Given the description of an element on the screen output the (x, y) to click on. 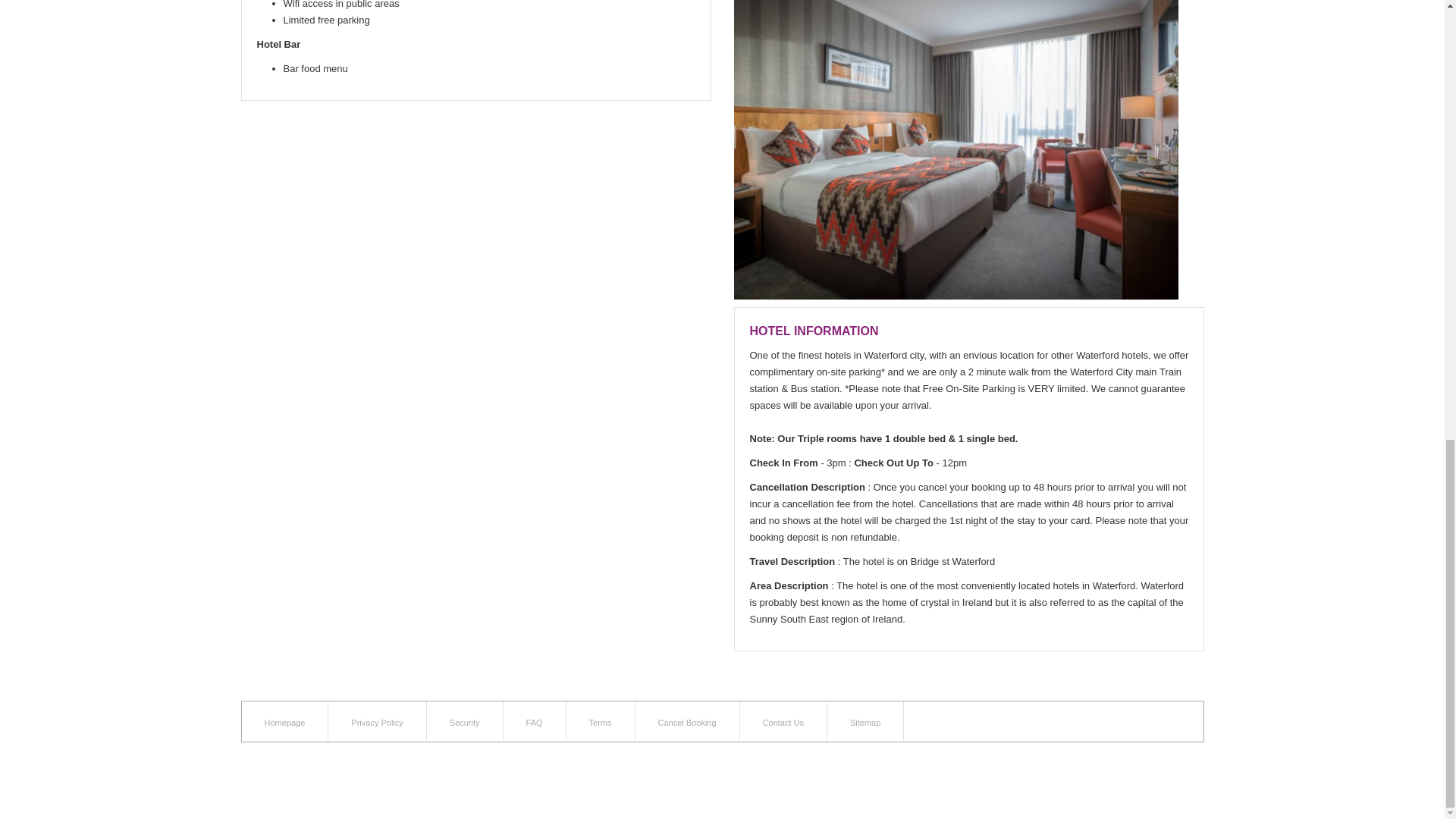
Privacy Policy (376, 722)
Terms (600, 722)
Security (464, 722)
Contact Us (782, 722)
Homepage (283, 722)
Sitemap (865, 722)
FAQ (534, 722)
Cancel Booking (687, 722)
